Given the description of an element on the screen output the (x, y) to click on. 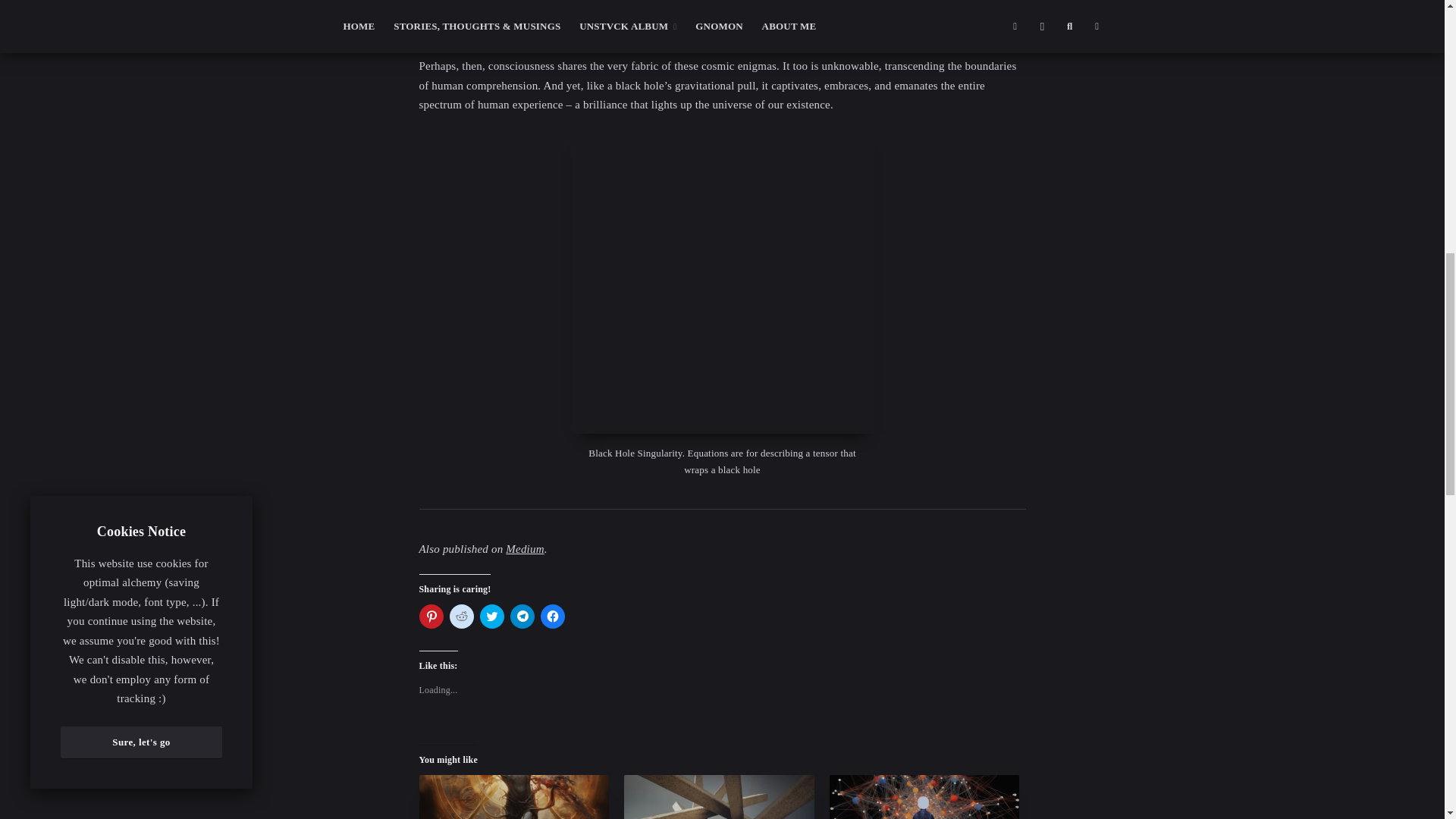
Click to share on Pinterest (430, 616)
Why Can Life Be So Fucking Hard? (718, 796)
Your Emotional Universe (924, 796)
Click to share on Facebook (552, 616)
Click to share on Twitter (491, 616)
Click to share on Telegram (521, 616)
Make Chaos Go Away (513, 796)
Click to share on Reddit (460, 616)
